Given the description of an element on the screen output the (x, y) to click on. 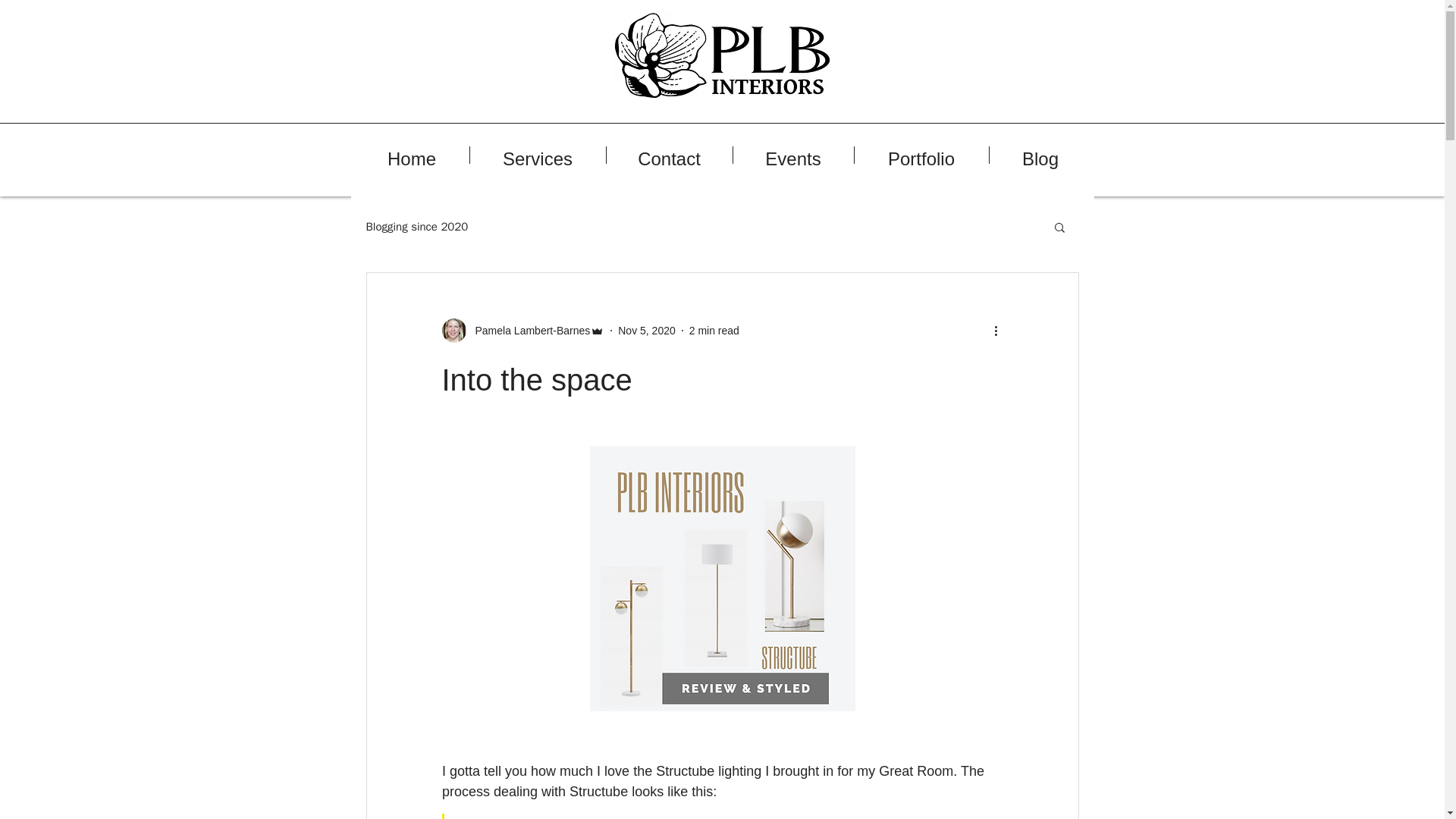
Pamela Lambert-Barnes (527, 330)
Home (411, 154)
Services (537, 154)
Pamela Lambert-Barnes (522, 330)
Blog (1039, 154)
Blogging since 2020 (416, 227)
Contact (669, 154)
Nov 5, 2020 (646, 330)
Events (792, 154)
Portfolio (920, 154)
